Given the description of an element on the screen output the (x, y) to click on. 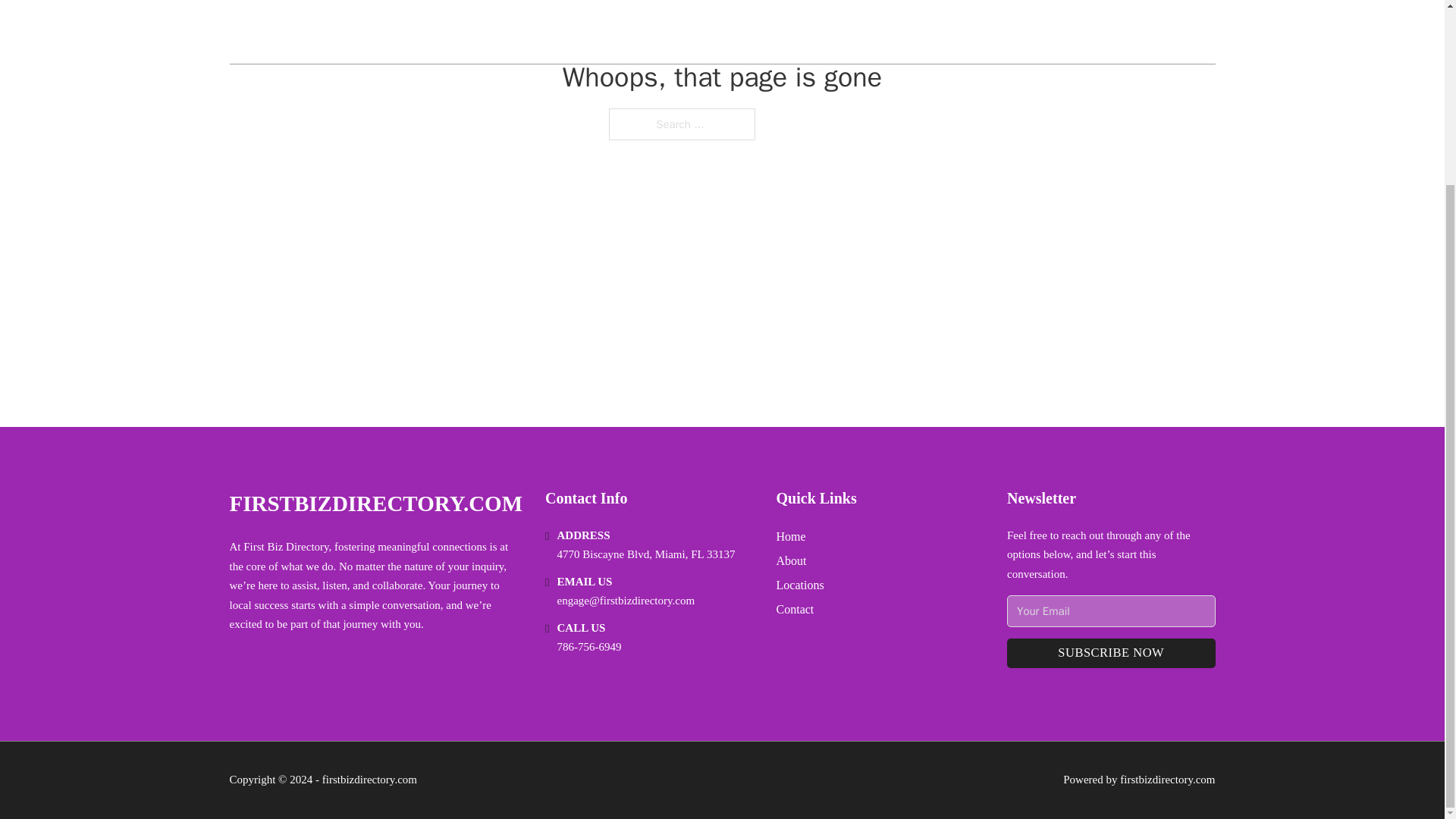
SUBSCRIBE NOW (1110, 653)
Contact (794, 608)
Home (791, 536)
About (791, 560)
Locations (800, 584)
FIRSTBIZDIRECTORY.COM (375, 503)
786-756-6949 (589, 646)
